Given the description of an element on the screen output the (x, y) to click on. 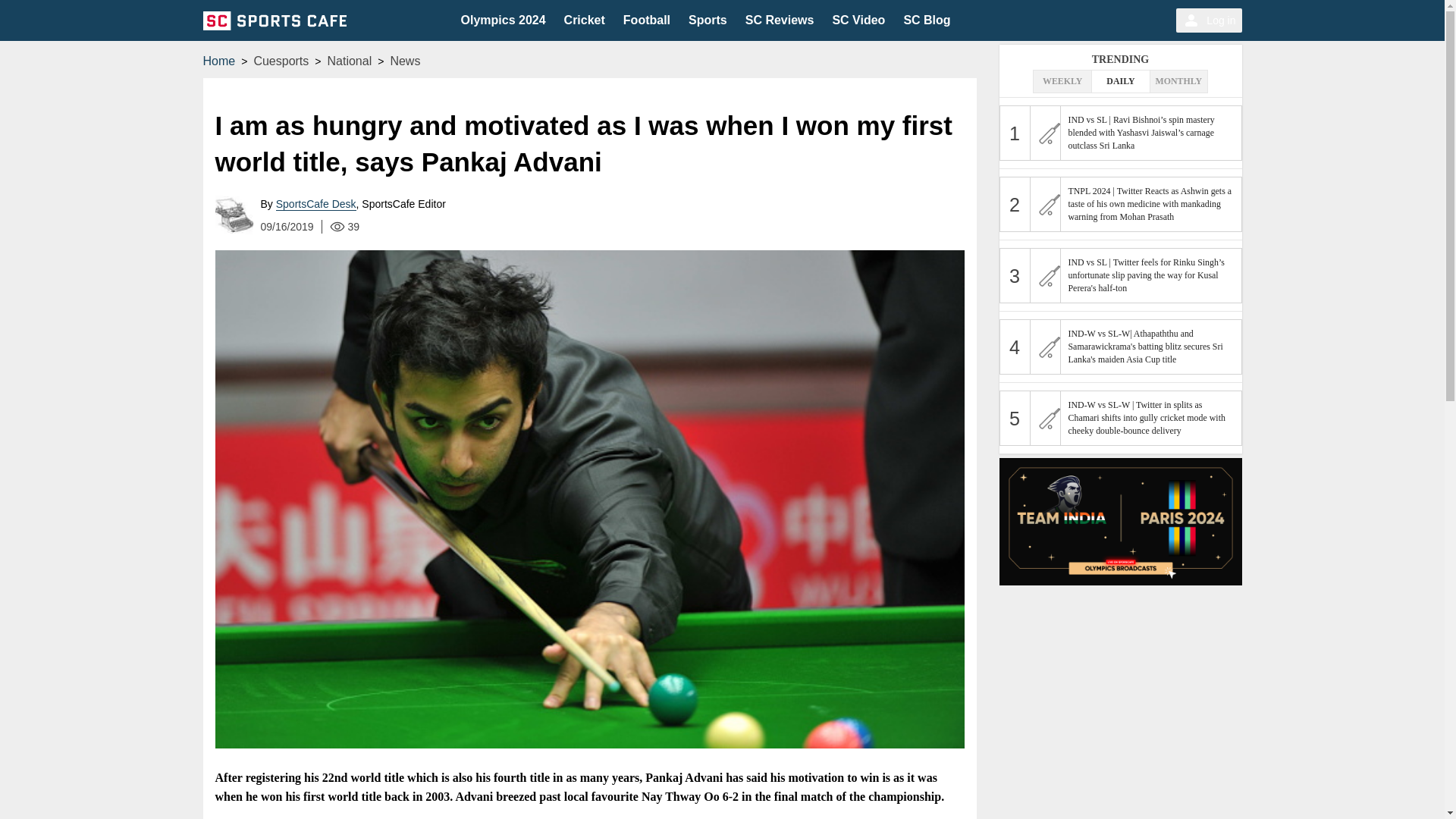
Cricket (584, 19)
Football (646, 19)
Sports (707, 19)
Olympics 2024 (503, 19)
